Given the description of an element on the screen output the (x, y) to click on. 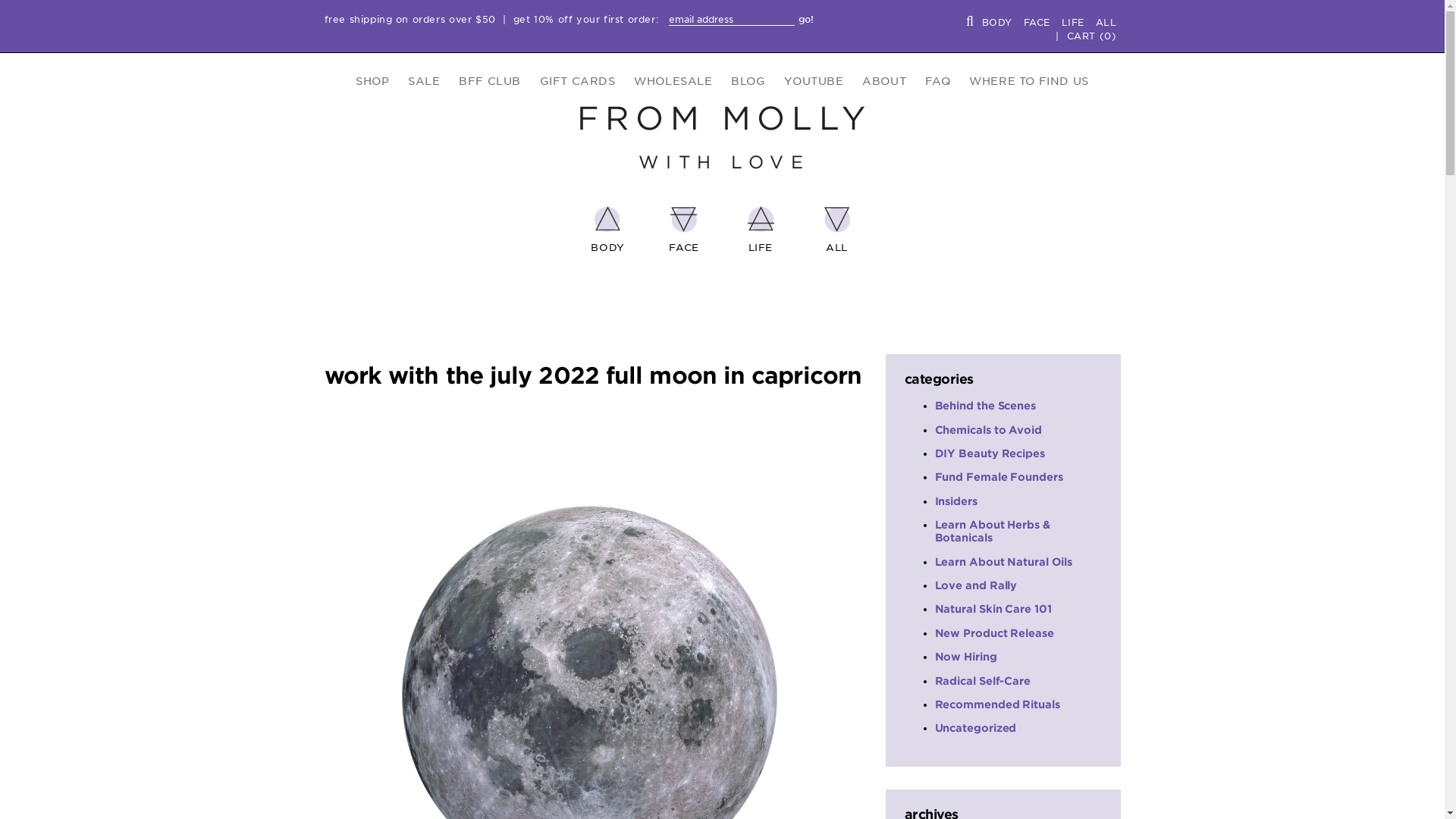
BODY (997, 21)
GIFT CARDS (577, 81)
SALE (423, 81)
SHOP (371, 81)
ABOUT (884, 81)
YOUTUBE (813, 81)
FAQ (937, 81)
BLOG (748, 81)
FACE (1037, 21)
LIFE (1072, 21)
View your shopping cart (1091, 36)
ALL (1106, 21)
PRESS (932, 118)
go! (805, 19)
BFF CLUB (489, 81)
